Given the description of an element on the screen output the (x, y) to click on. 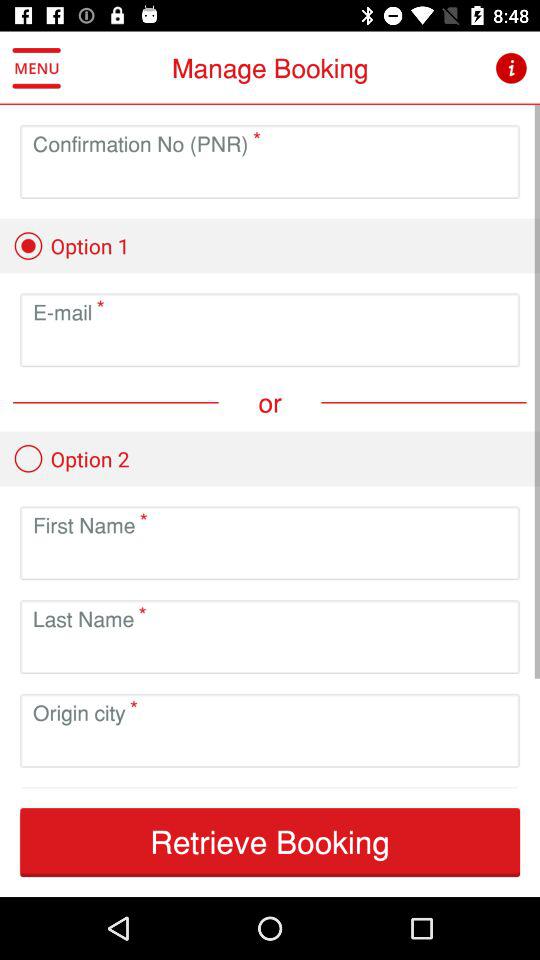
launch option 1 (71, 245)
